Given the description of an element on the screen output the (x, y) to click on. 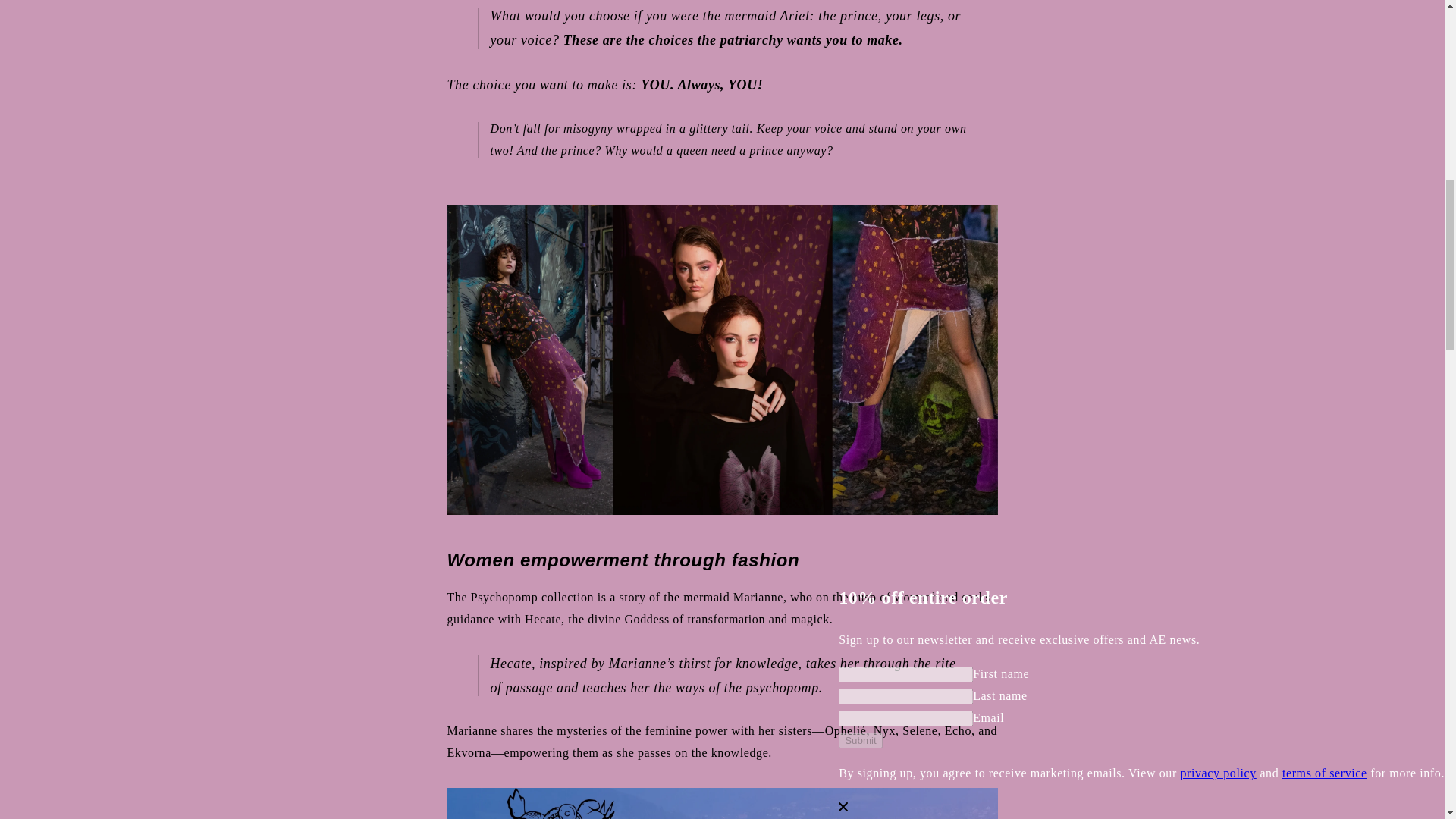
Psychopomp fashion collection (520, 596)
